Given the description of an element on the screen output the (x, y) to click on. 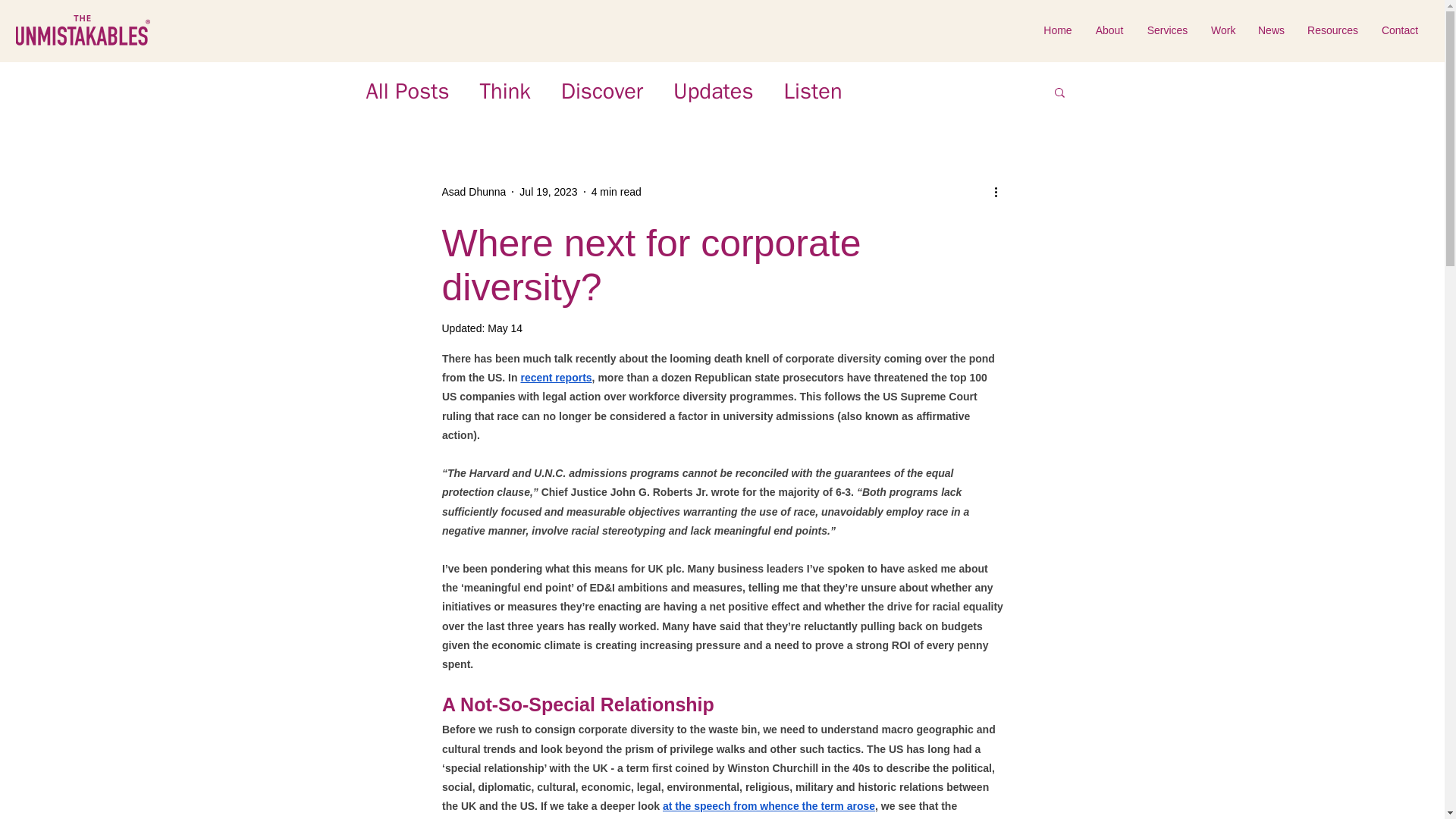
Asad Dhunna (473, 191)
Listen (813, 91)
Jul 19, 2023 (547, 191)
recent reports (555, 377)
Home (1057, 30)
News (1270, 30)
4 min read (616, 191)
About (1109, 30)
Work (1222, 30)
All Posts (406, 91)
